Given the description of an element on the screen output the (x, y) to click on. 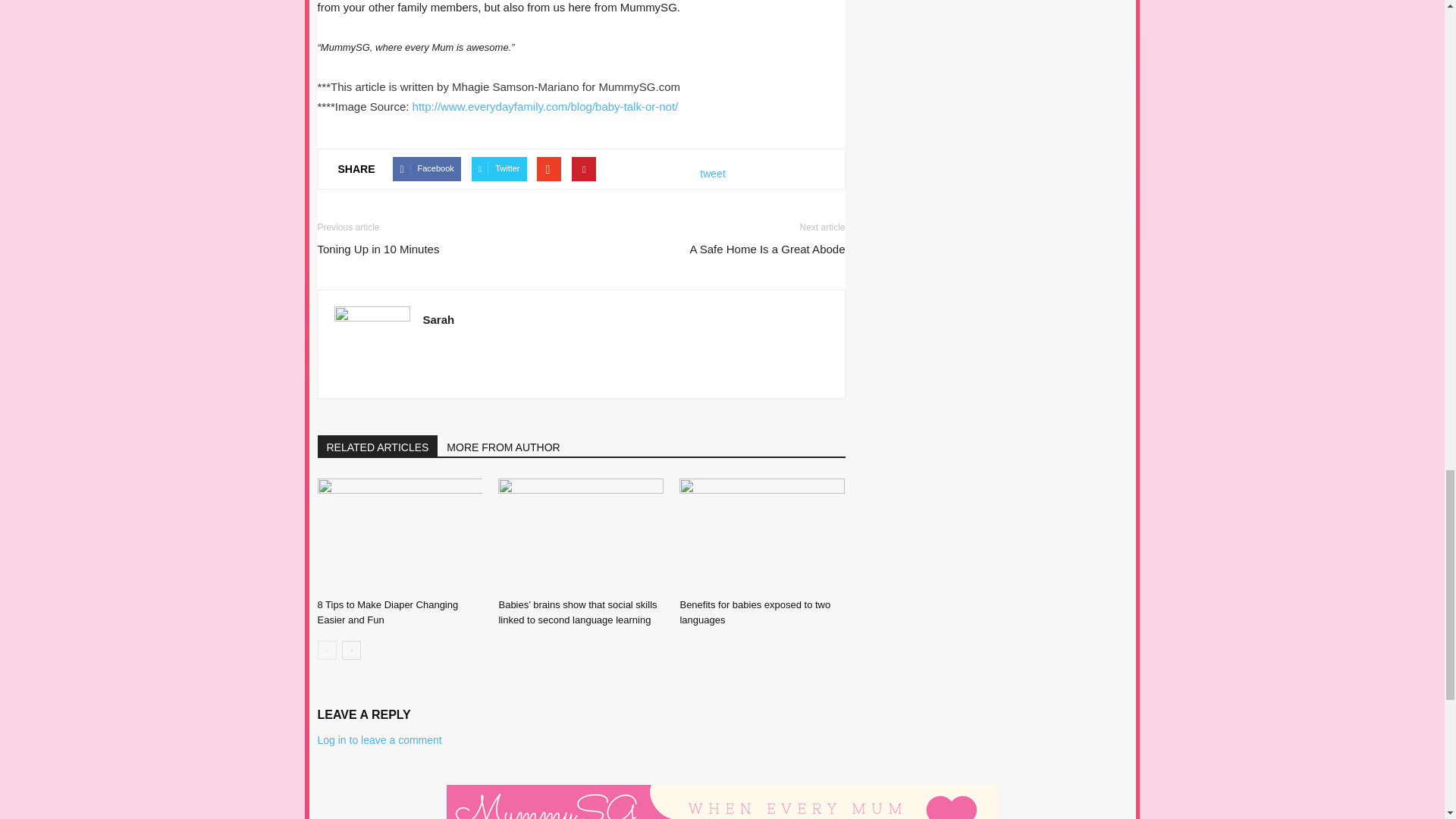
Benefits for babies exposed to two languages (754, 611)
8 Tips to Make Diaper Changing Easier and Fun (387, 611)
Benefits for babies exposed to two languages (761, 535)
8 Tips to Make Diaper Changing Easier and Fun (399, 535)
Facebook (426, 168)
Twitter (499, 168)
